Given the description of an element on the screen output the (x, y) to click on. 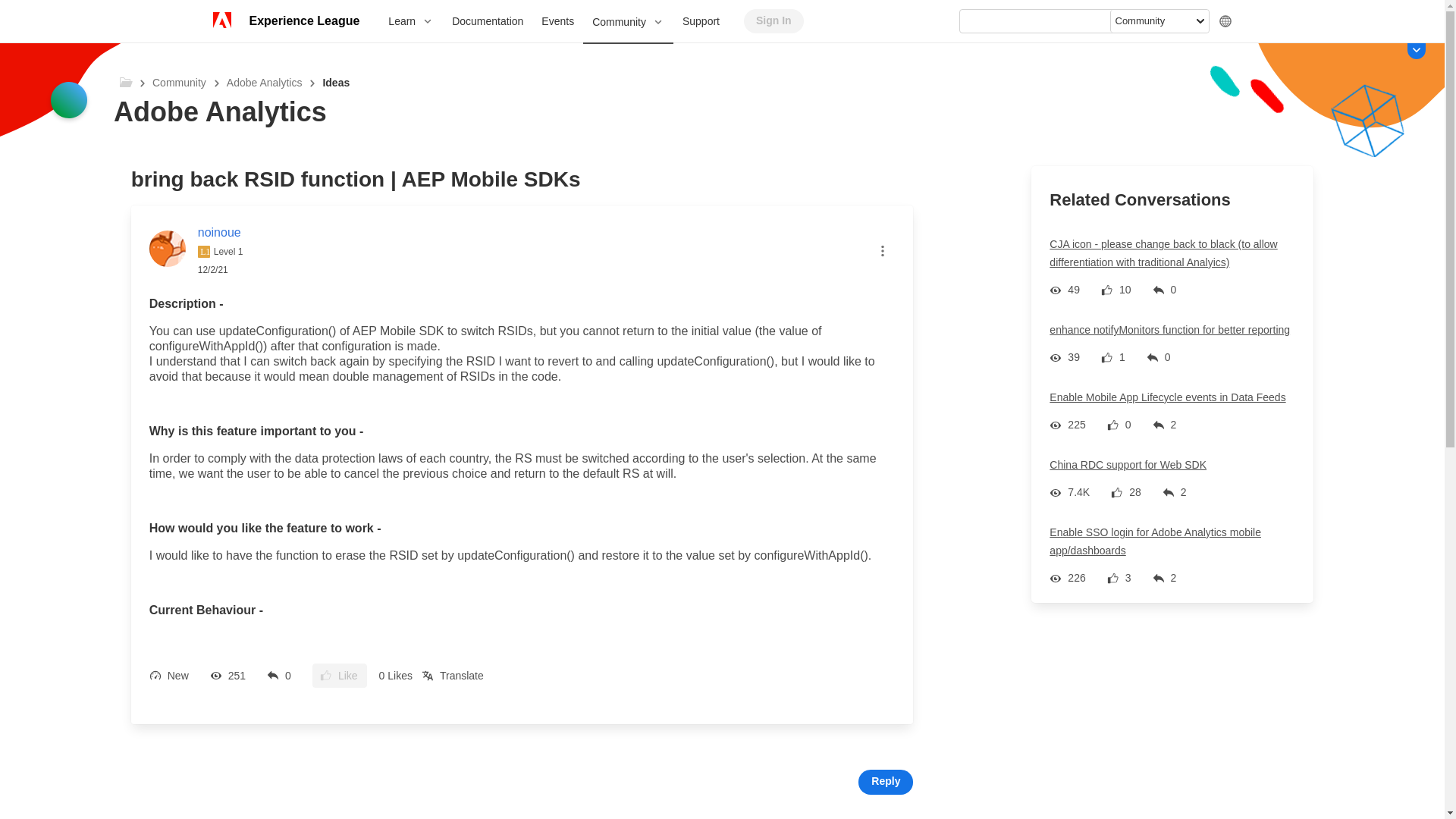
Community (627, 22)
Documentation (487, 21)
Events (557, 21)
Learn (410, 21)
Experience League (304, 21)
Learn (410, 21)
Experience League (304, 21)
